Given the description of an element on the screen output the (x, y) to click on. 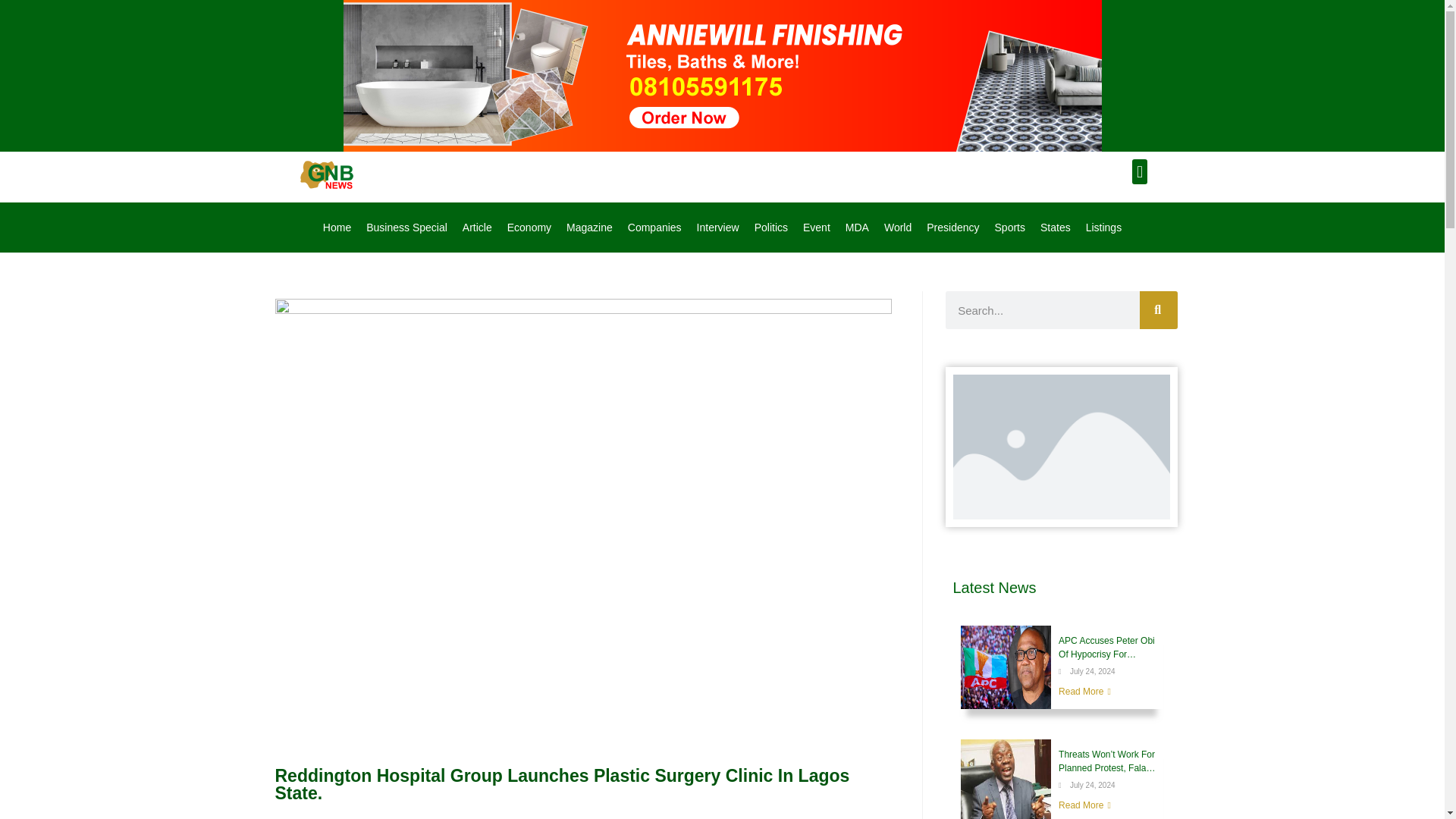
Event (816, 226)
Business Special (406, 226)
States (1055, 226)
Interview (717, 226)
Magazine (589, 226)
Listings (1103, 226)
MDA (857, 226)
Home (336, 226)
Companies (654, 226)
Presidency (952, 226)
Sports (1009, 226)
World (897, 226)
Article (476, 226)
Economy (529, 226)
Politics (770, 226)
